Given the description of an element on the screen output the (x, y) to click on. 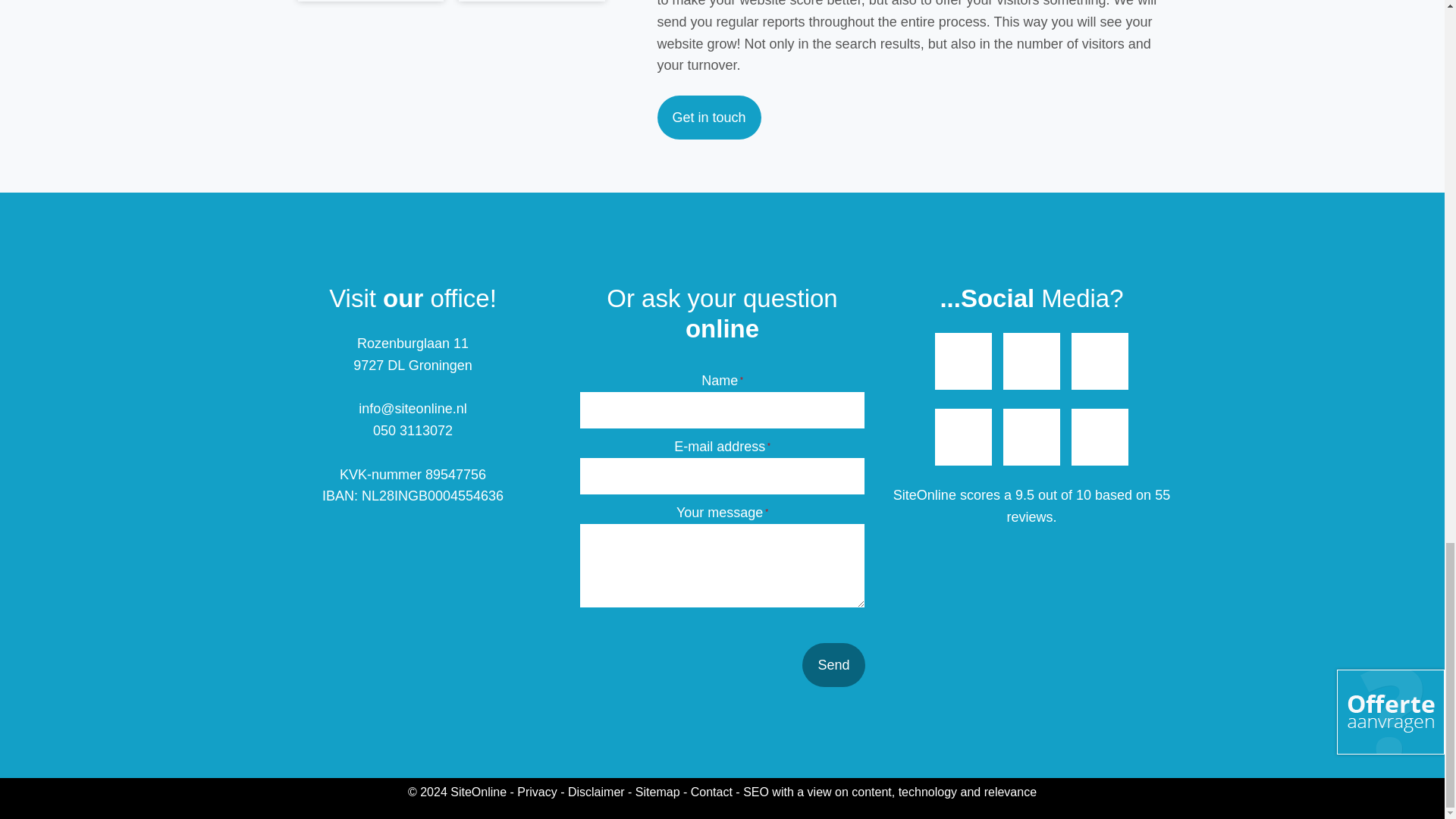
Disclaimer (595, 791)
Sitemap (656, 791)
Privacy (536, 791)
Follow us on Linkedin (1099, 437)
Send (833, 664)
Get in touch (708, 117)
See us on Instagram (1031, 437)
reviews (1029, 516)
Follow us on Facebook (962, 360)
See us on Youtube (1031, 360)
